Given the description of an element on the screen output the (x, y) to click on. 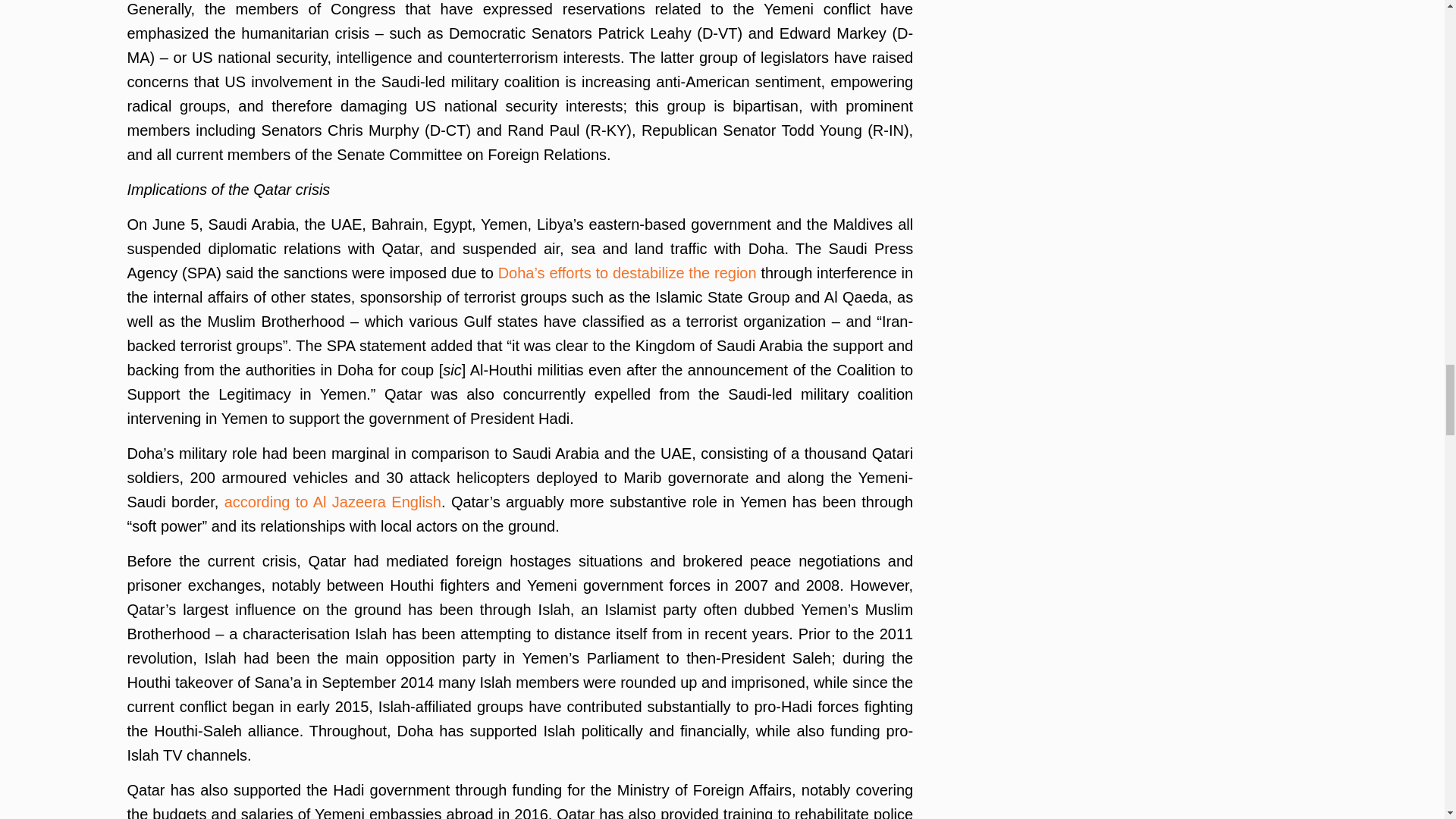
according to Al Jazeera English (332, 501)
